Given the description of an element on the screen output the (x, y) to click on. 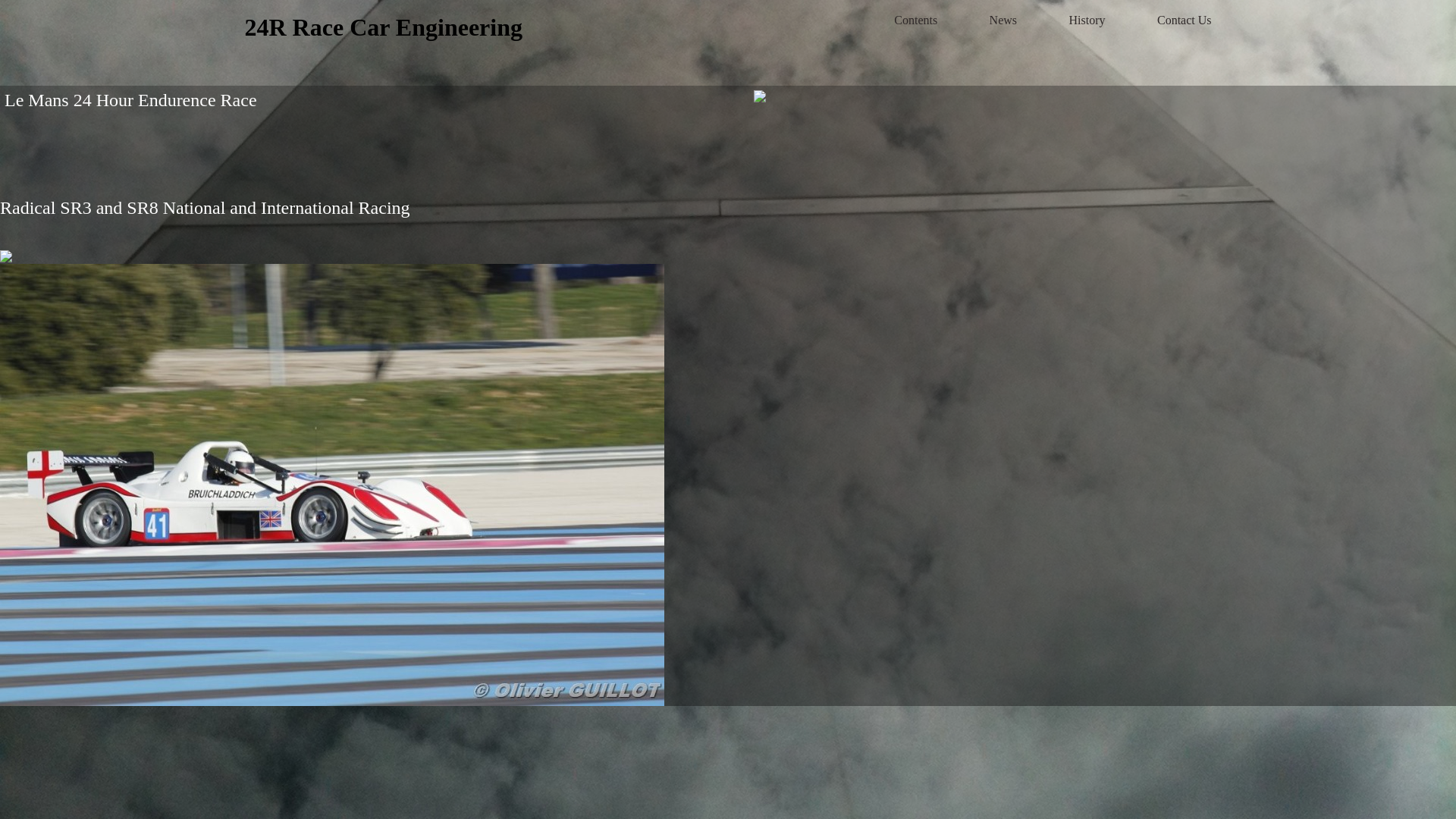
Contact Us Element type: text (1184, 19)
History Element type: text (1087, 19)
Contents Element type: text (915, 19)
24R Race Car Engineering Element type: text (382, 26)
News Element type: text (1002, 19)
